Given the description of an element on the screen output the (x, y) to click on. 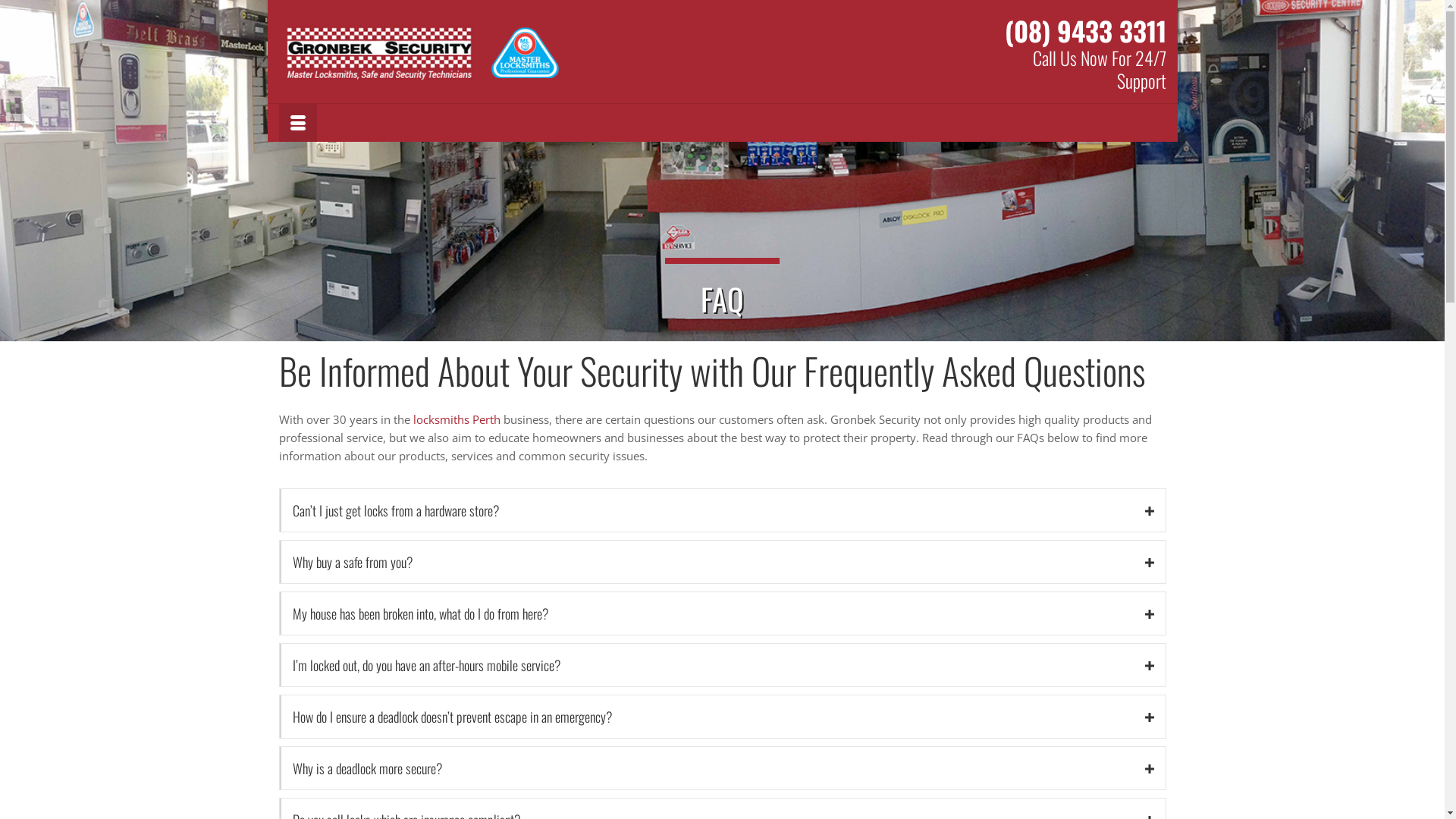
Why buy a safe from you? Element type: text (721, 561)
(08) 9433 3311 Element type: text (1084, 30)
My house has been broken into, what do I do from here? Element type: text (721, 613)
locksmiths Perth Element type: text (455, 418)
Gronbek Security Element type: hover (422, 53)
Menu Element type: hover (297, 122)
Why is a deadlock more secure? Element type: text (721, 767)
